Given the description of an element on the screen output the (x, y) to click on. 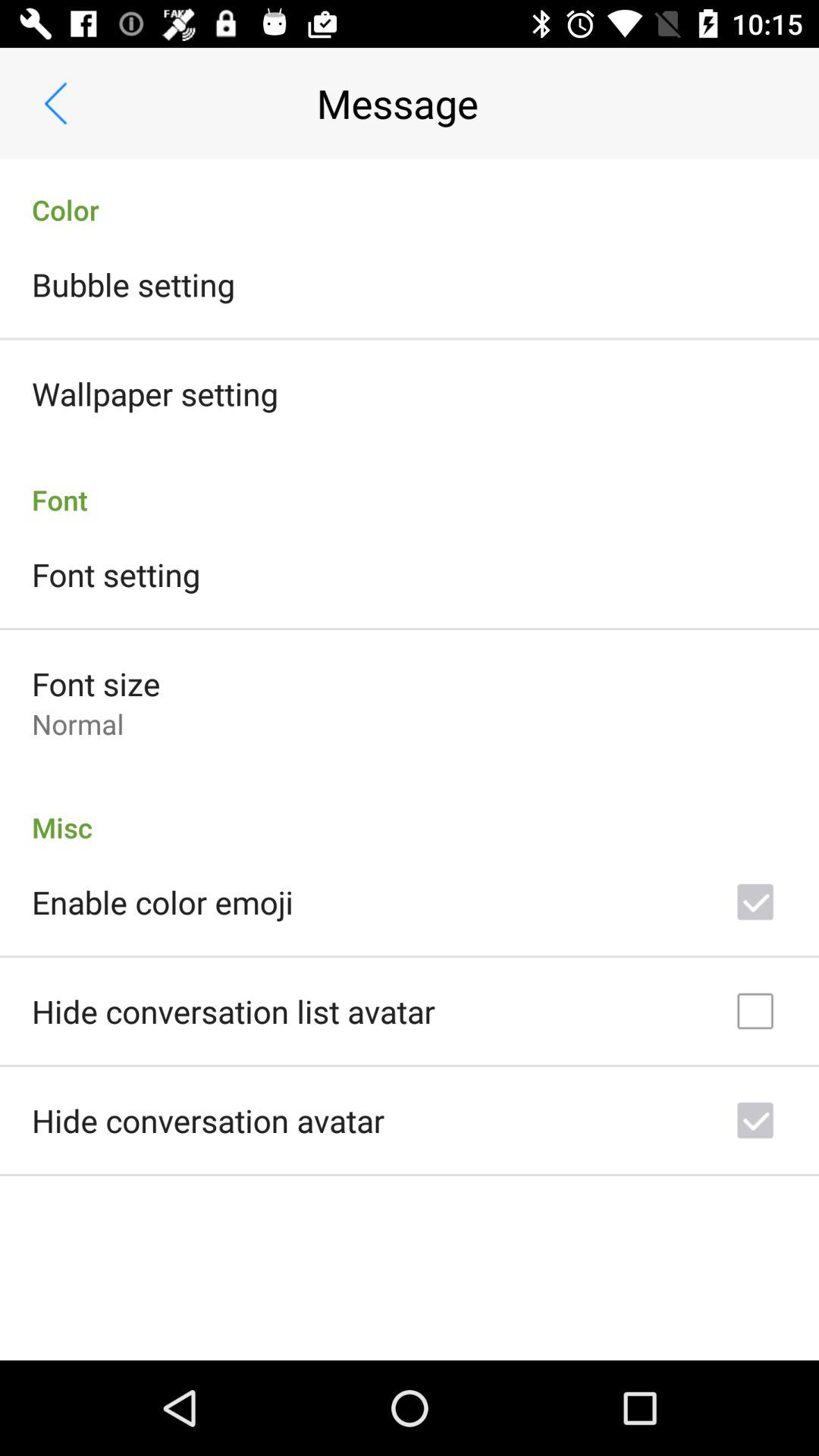
open item to the left of the message app (55, 103)
